Given the description of an element on the screen output the (x, y) to click on. 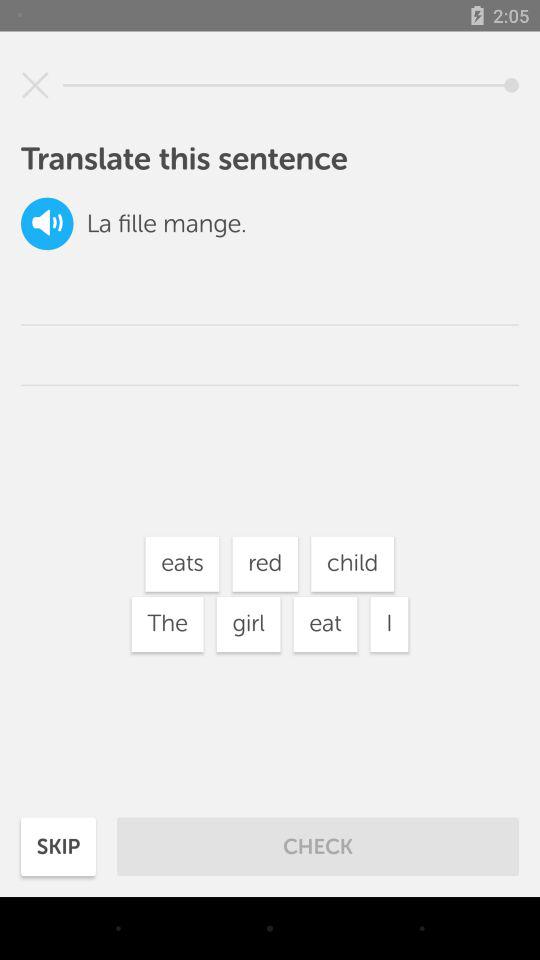
turn on the icon next to the the item (248, 624)
